Given the description of an element on the screen output the (x, y) to click on. 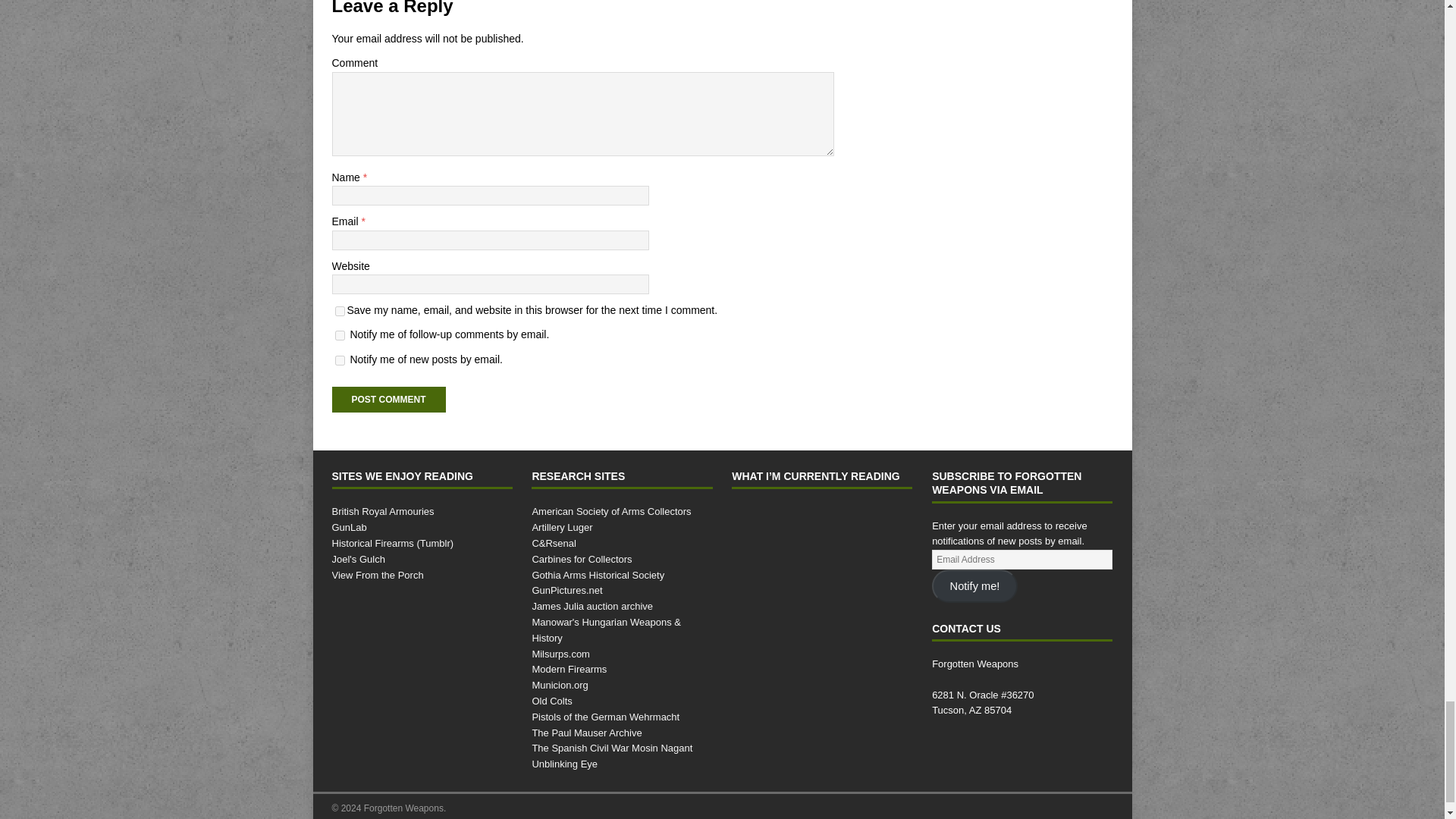
yes (339, 311)
Post Comment (388, 399)
subscribe (339, 335)
subscribe (339, 360)
